Given the description of an element on the screen output the (x, y) to click on. 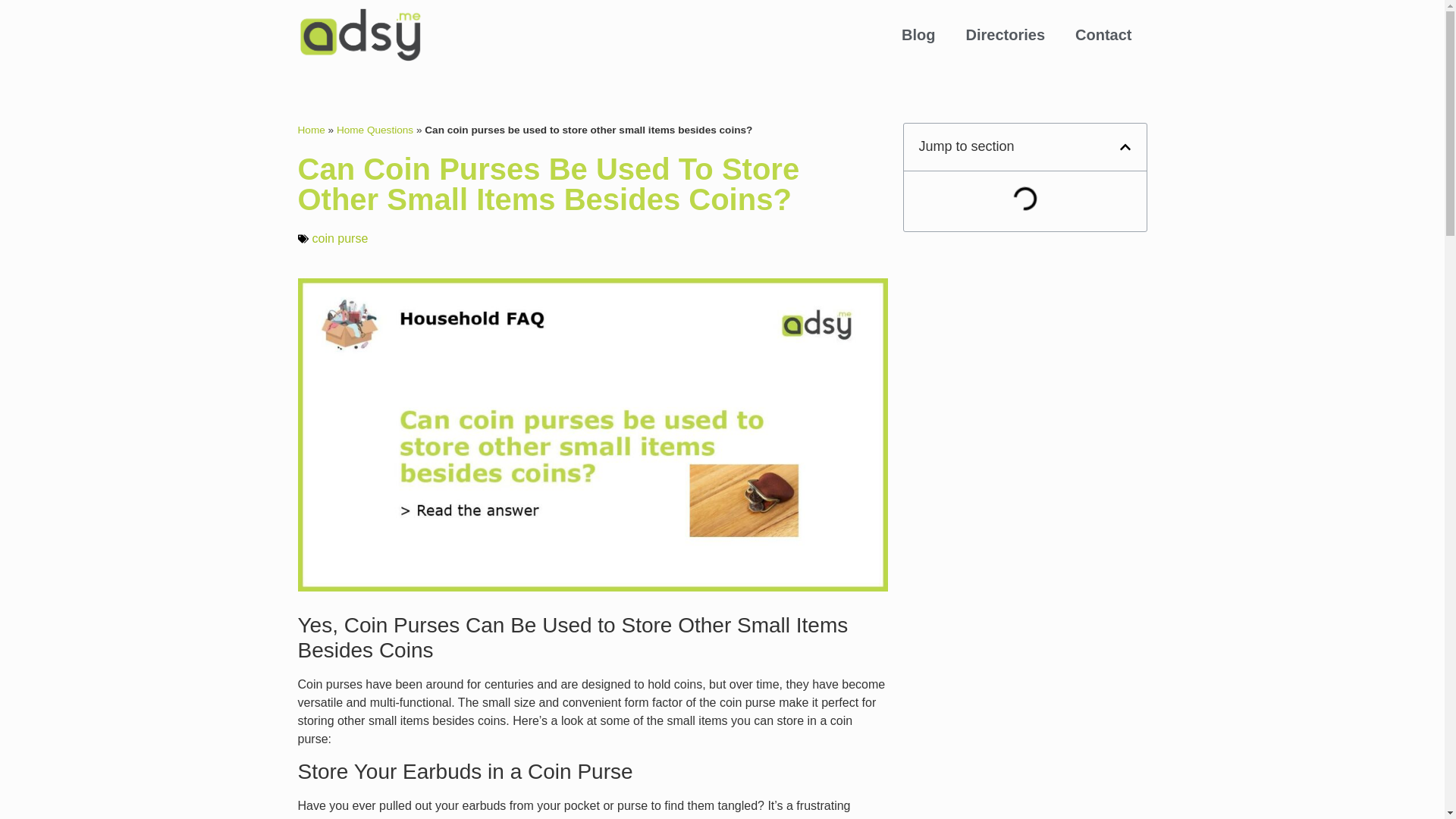
Directories (1005, 34)
Contact (1103, 34)
Blog (918, 34)
